Given the description of an element on the screen output the (x, y) to click on. 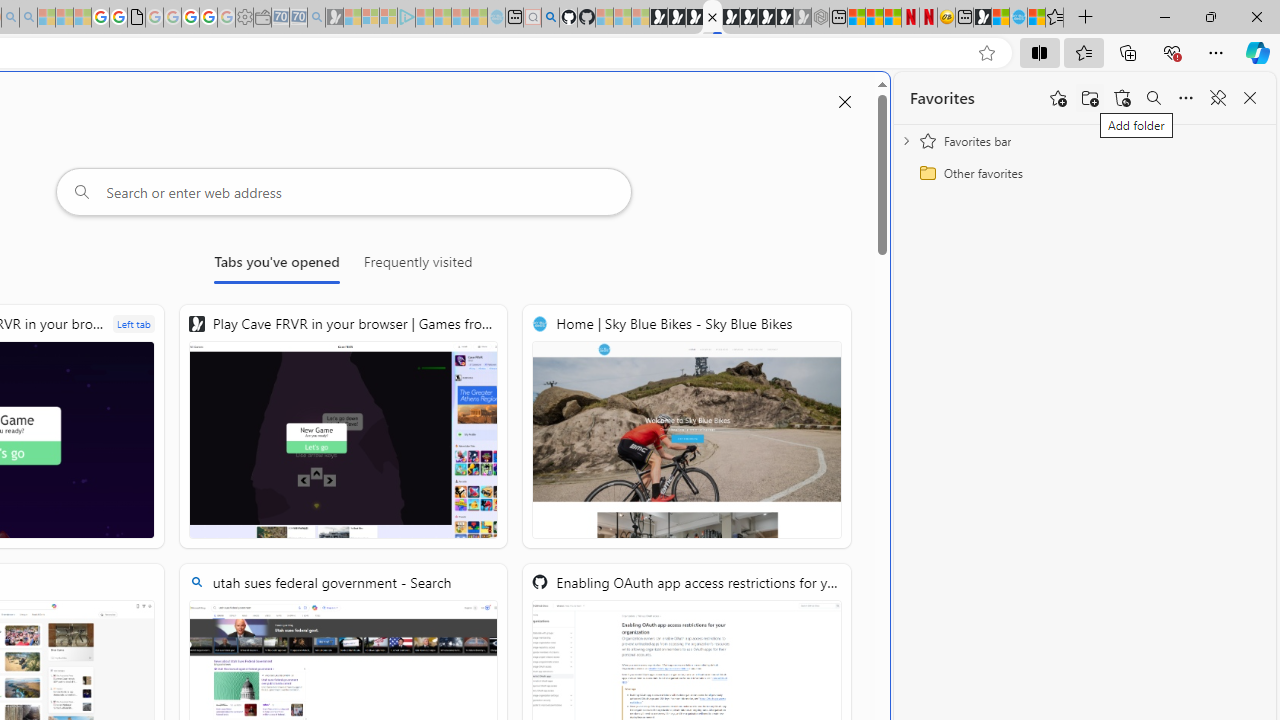
Close favorites (1250, 98)
